Given the description of an element on the screen output the (x, y) to click on. 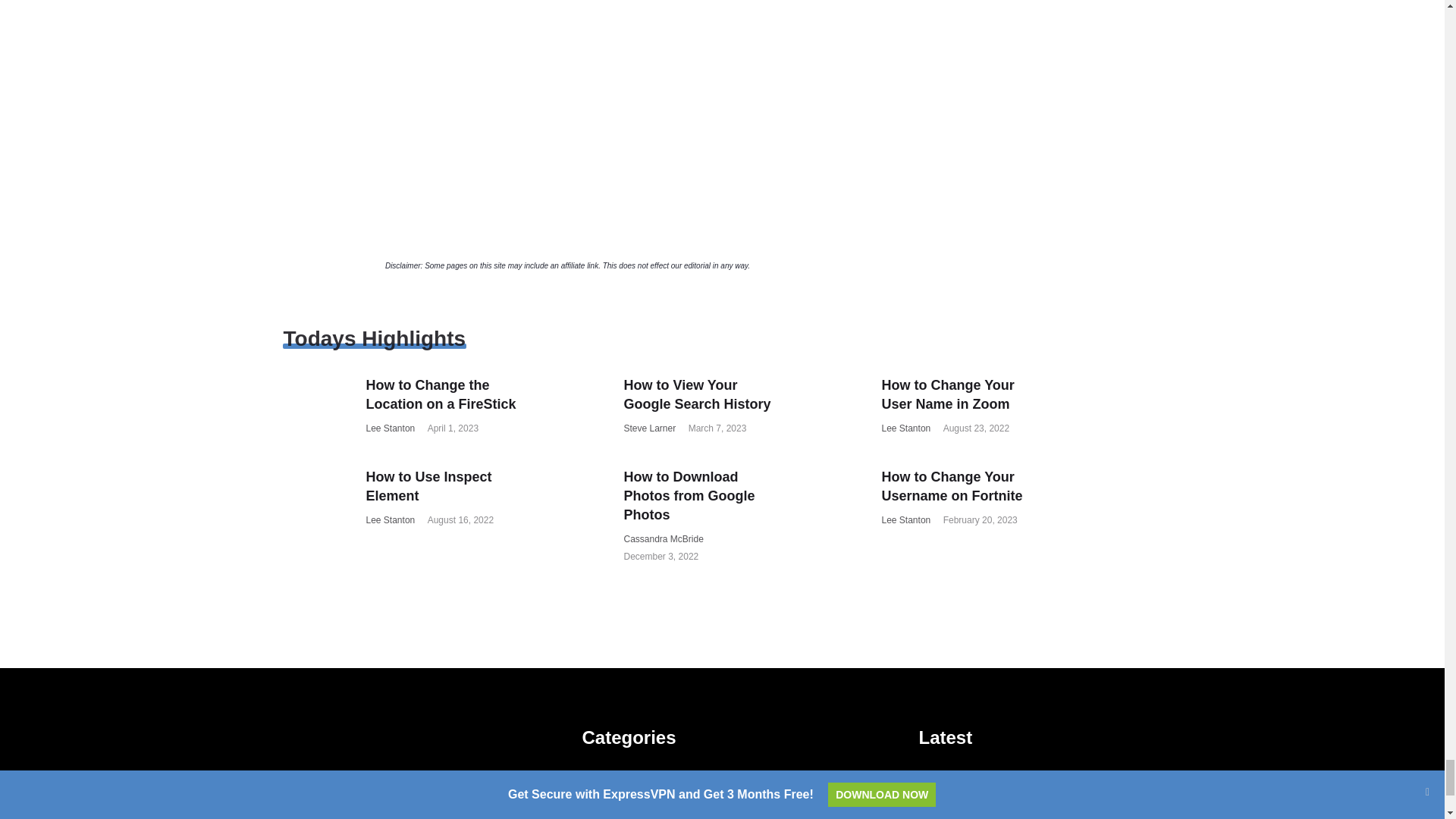
Facebook (291, 776)
Twitter (322, 776)
